Given the description of an element on the screen output the (x, y) to click on. 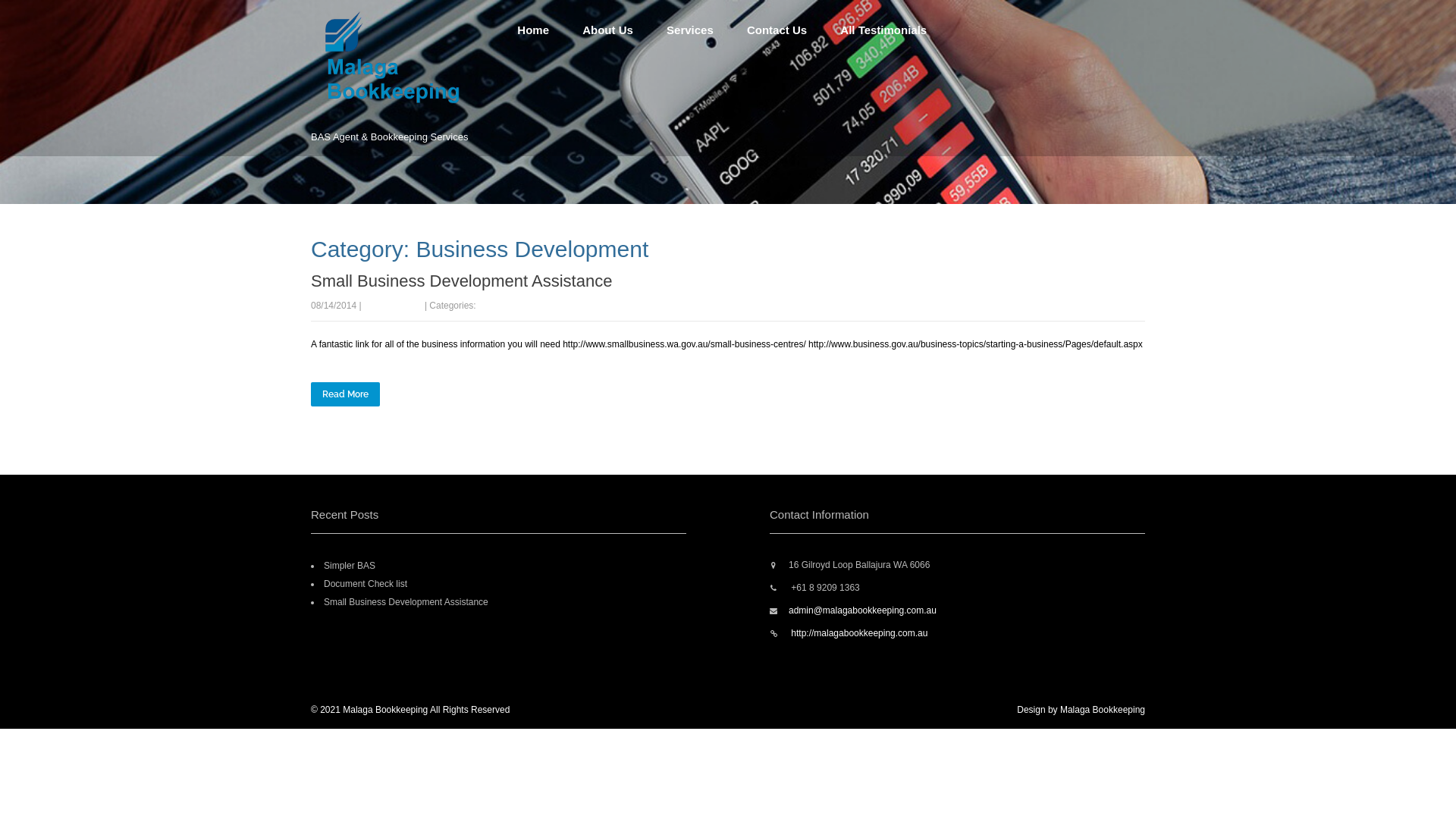
Document Check list Element type: text (365, 583)
Simpler BAS Element type: text (349, 565)
Home Element type: text (533, 30)
http://malagabookkeeping.com.au Element type: text (857, 632)
BAS Agent & Bookkeeping Services Element type: text (406, 107)
admin@malagabookkeeping.com.au Element type: text (862, 610)
About Us Element type: text (607, 30)
Small Business Development Assistance Element type: text (405, 601)
No Comments Element type: text (393, 305)
Services Element type: text (689, 30)
Read More Element type: text (344, 394)
Contact Us Element type: text (776, 30)
Small Business Development Assistance Element type: text (460, 280)
All Testimonials Element type: text (883, 30)
Business Development Element type: text (524, 305)
